Given the description of an element on the screen output the (x, y) to click on. 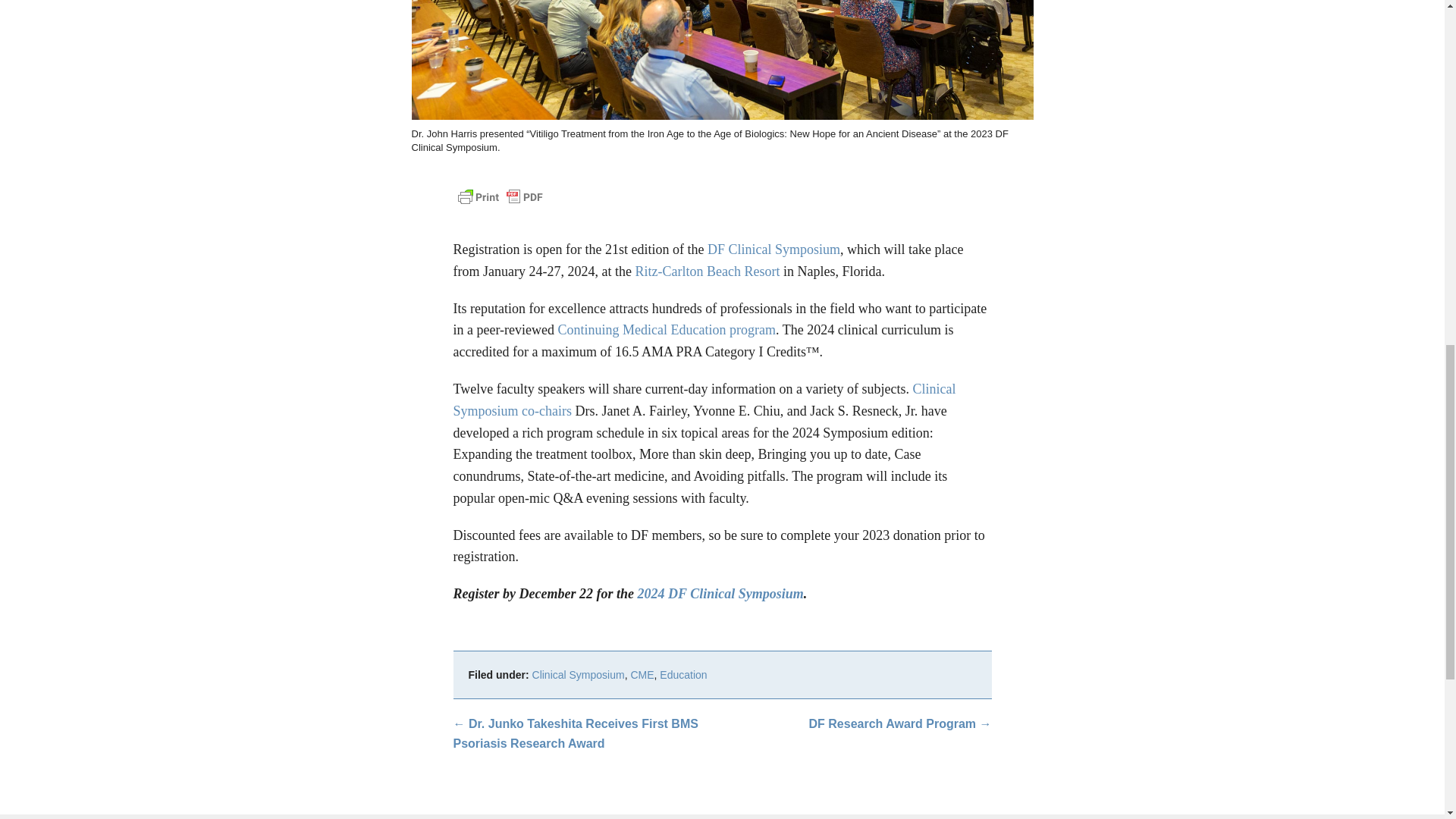
541387847-cs-participants (721, 59)
Continuing Medical Education program (666, 329)
Ritz-Carlton Beach Resort (706, 271)
Clinical Symposium co-chairs (704, 399)
Clinical Symposium (578, 674)
2024 DF Clinical Symposium (720, 593)
Education (682, 674)
DF Clinical Symposium (773, 249)
CME (641, 674)
